Given the description of an element on the screen output the (x, y) to click on. 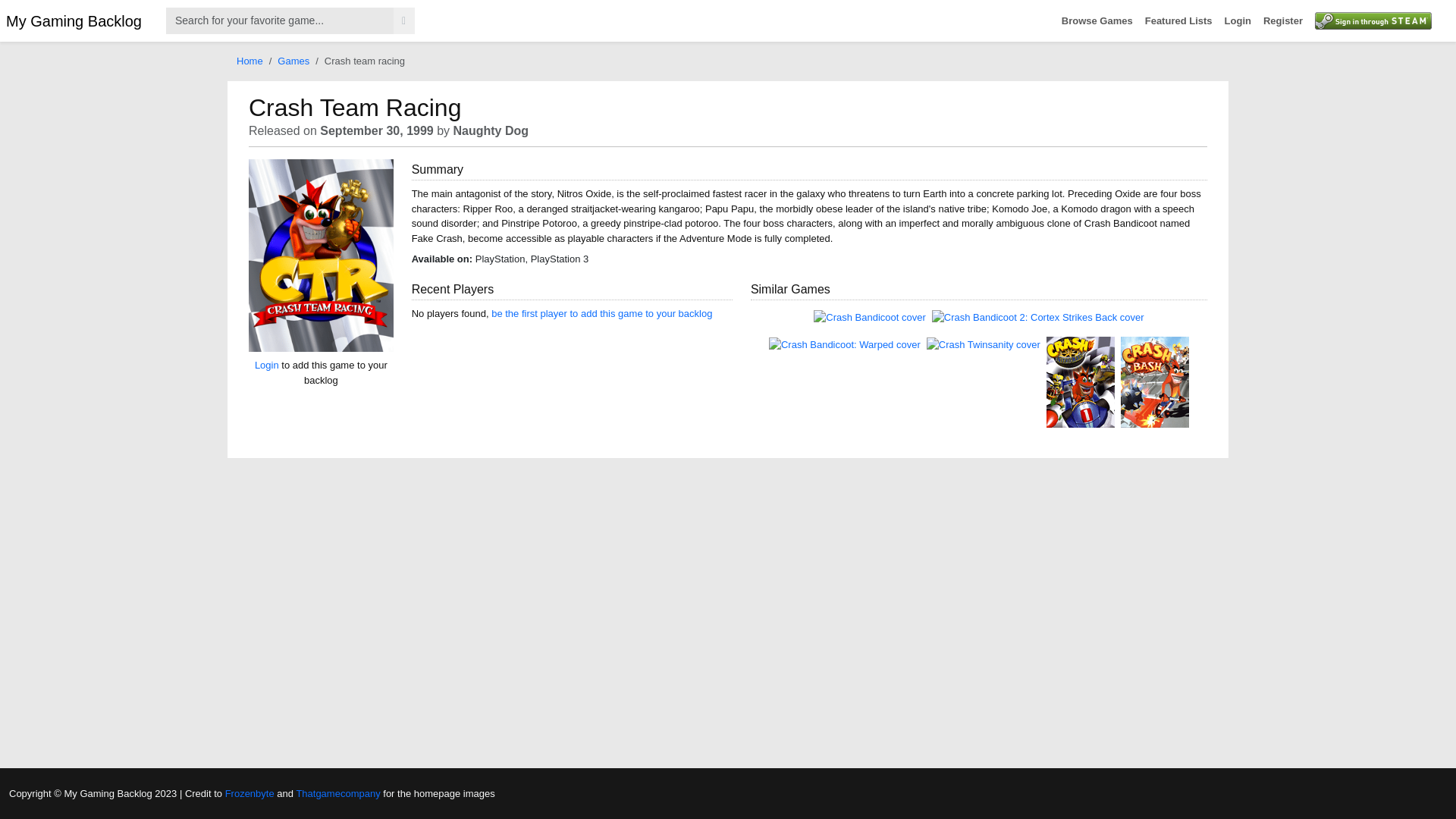
Thatgamecompany (337, 792)
Games (293, 60)
Frozenbyte (250, 792)
Browse Games (1096, 20)
Home (249, 60)
Login (1237, 20)
Register (1282, 20)
Login (266, 365)
be the first player to add this game to your backlog (601, 313)
My Gaming Backlog (73, 20)
